Given the description of an element on the screen output the (x, y) to click on. 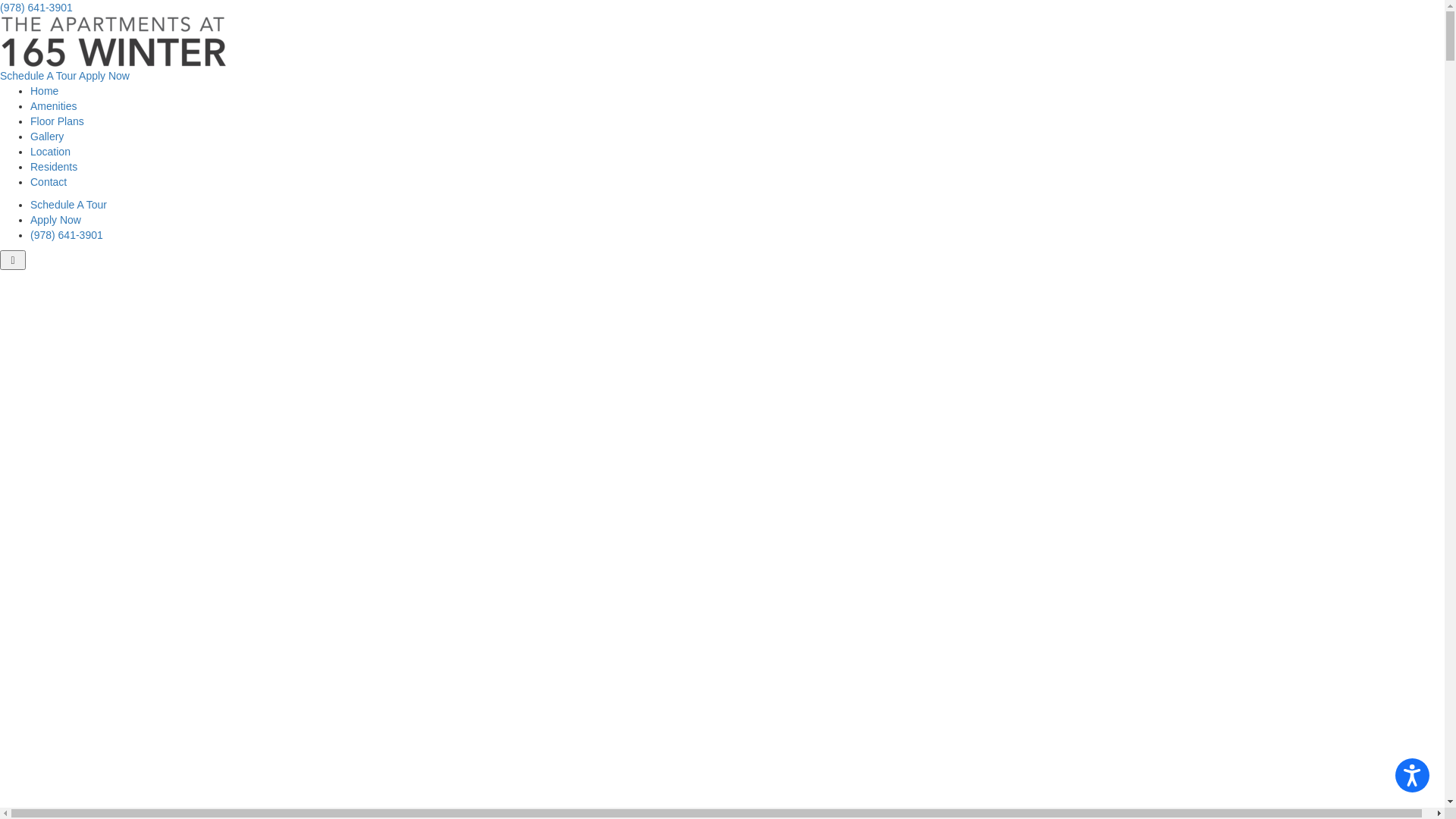
Home Element type: text (44, 90)
Schedule A Tour Element type: text (68, 204)
Apply Now Element type: text (55, 219)
Apply Now Element type: text (103, 75)
Open Menu Element type: hover (12, 259)
Gallery Element type: text (46, 136)
Amenities Element type: text (53, 106)
Schedule A Tour Element type: text (38, 75)
Contact Element type: text (48, 181)
Location Element type: text (50, 151)
(978) 641-3901 Element type: text (36, 7)
(978) 641-3901 Element type: text (66, 235)
Residents Element type: text (53, 166)
Floor Plans Element type: text (57, 121)
Home Element type: hover (113, 40)
